Given the description of an element on the screen output the (x, y) to click on. 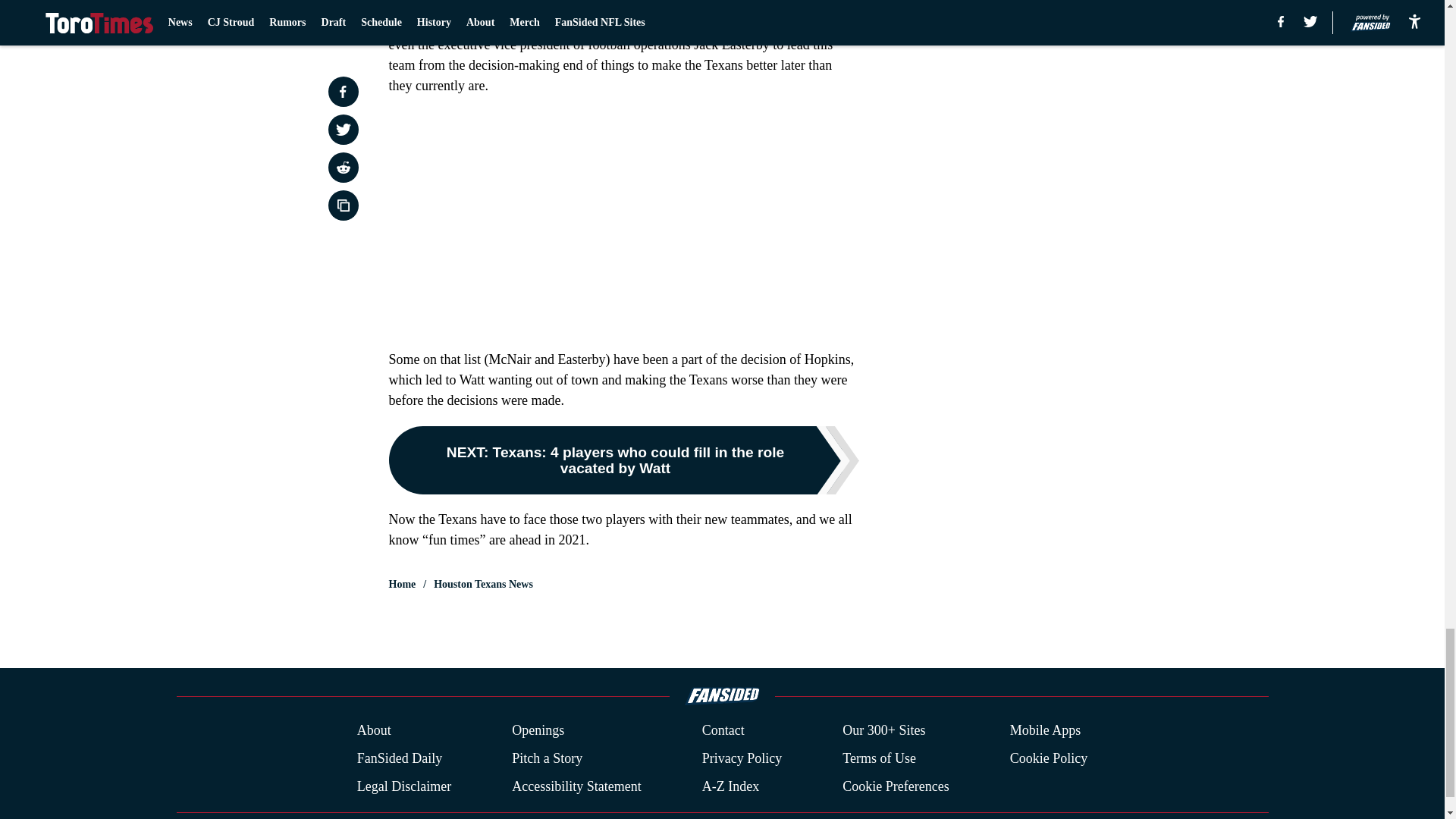
Pitch a Story (547, 758)
Legal Disclaimer (403, 786)
Houston Texans News (482, 584)
Contact (722, 730)
Home (401, 584)
Cookie Policy (1048, 758)
Mobile Apps (1045, 730)
FanSided Daily (399, 758)
Terms of Use (879, 758)
About (373, 730)
